Given the description of an element on the screen output the (x, y) to click on. 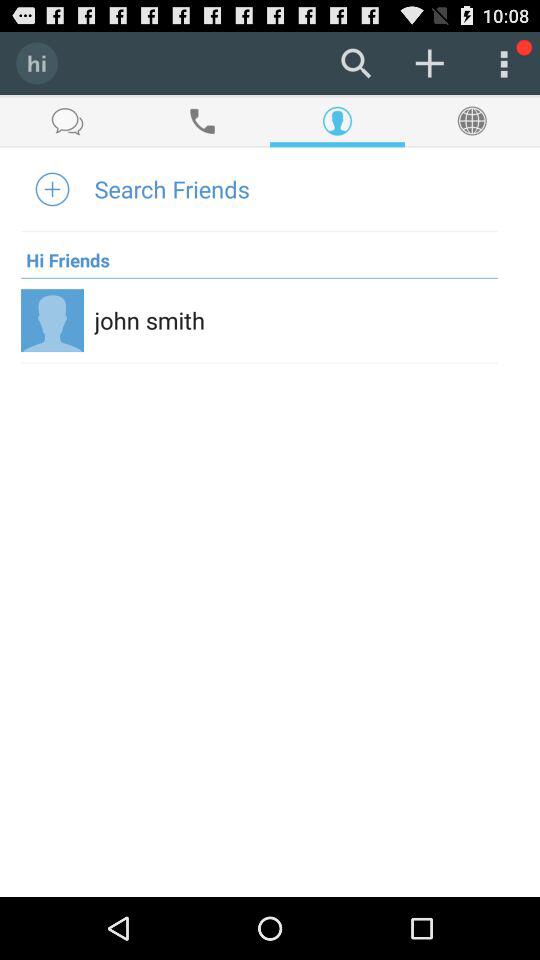
choose john smith icon (149, 319)
